Given the description of an element on the screen output the (x, y) to click on. 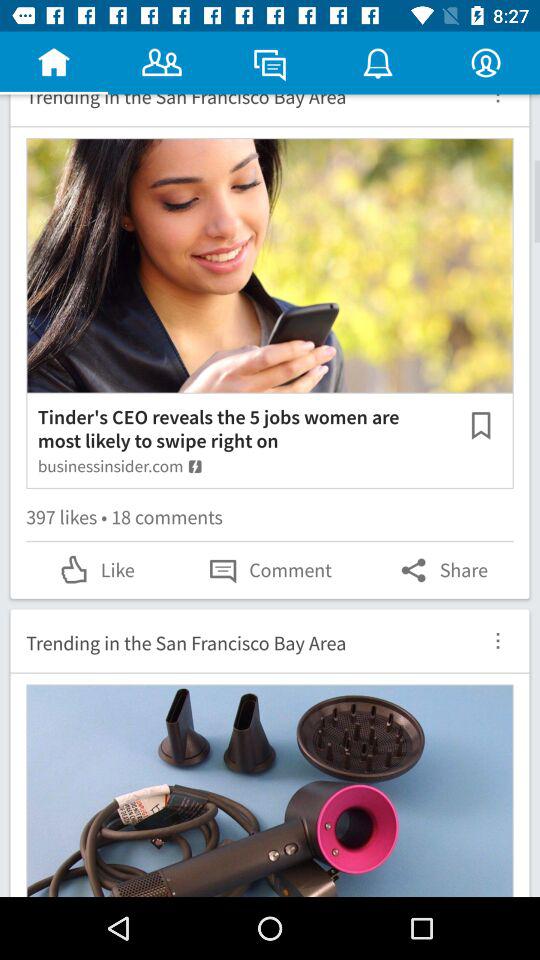
flip until the 397 likes 18 icon (269, 519)
